Given the description of an element on the screen output the (x, y) to click on. 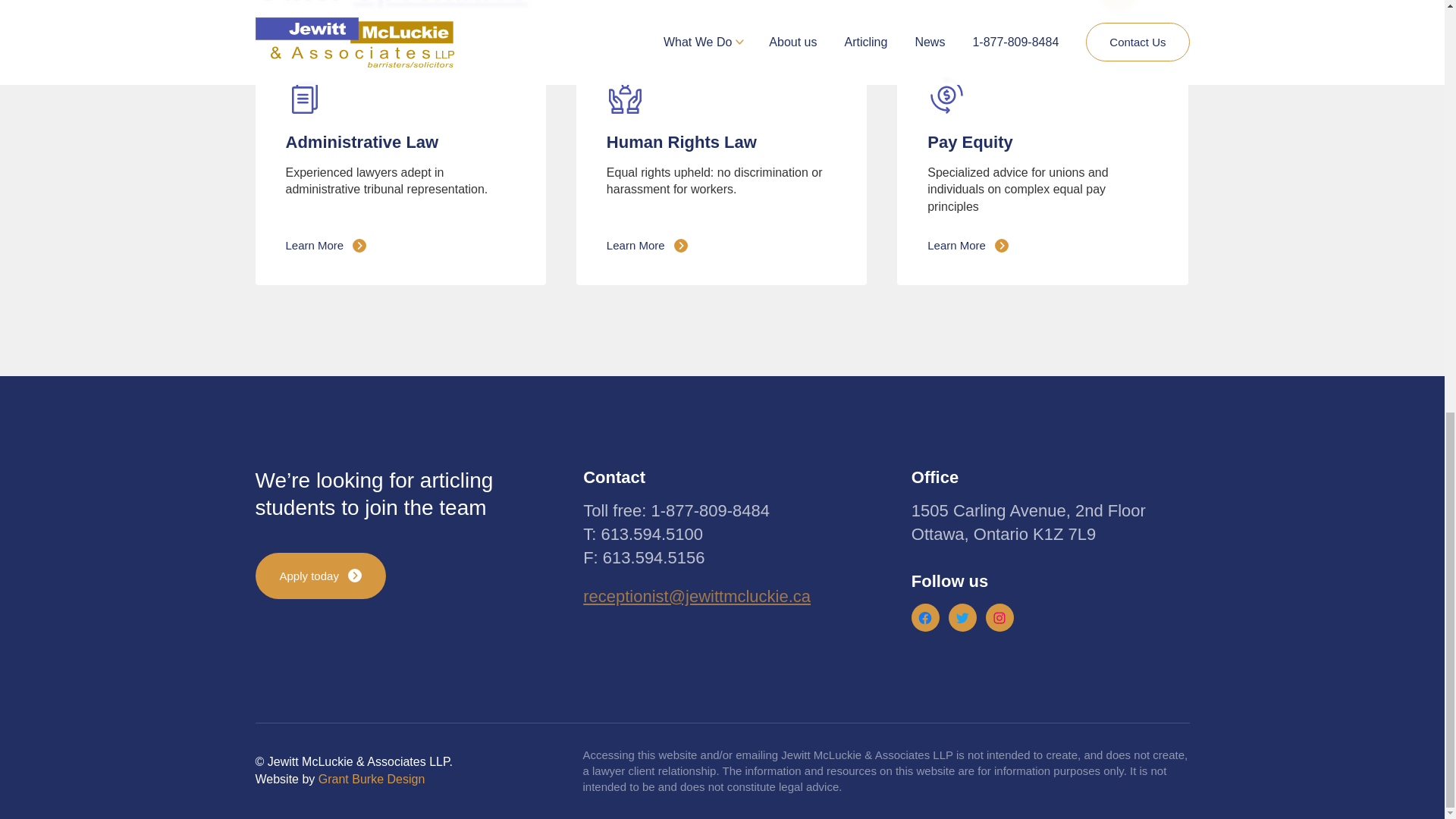
Learn More (968, 245)
Administrative Law (361, 141)
Human Rights Law (682, 141)
Pay Equity (969, 141)
Learn More (325, 245)
Learn More (647, 245)
